Given the description of an element on the screen output the (x, y) to click on. 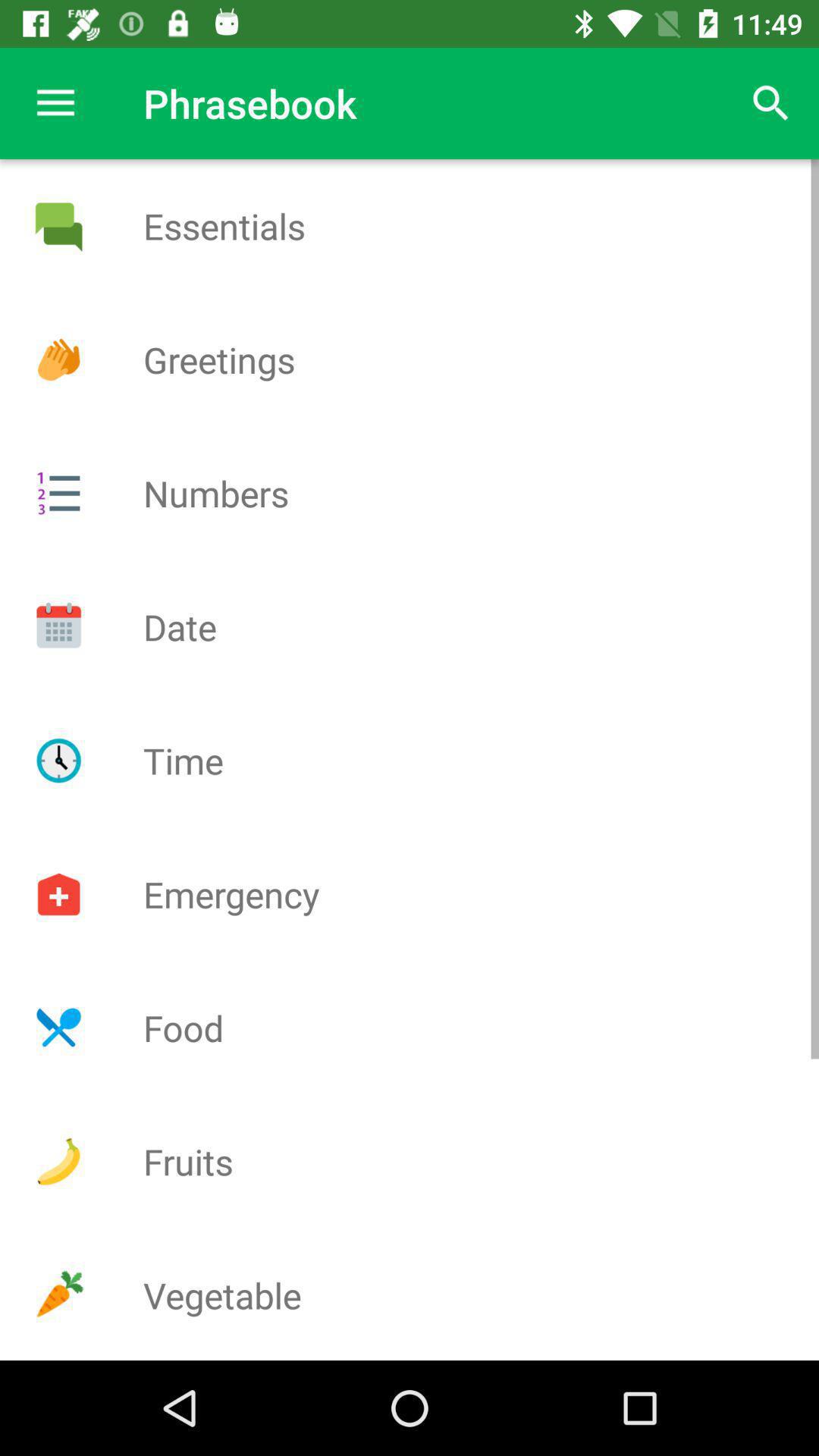
essentials (58, 226)
